Given the description of an element on the screen output the (x, y) to click on. 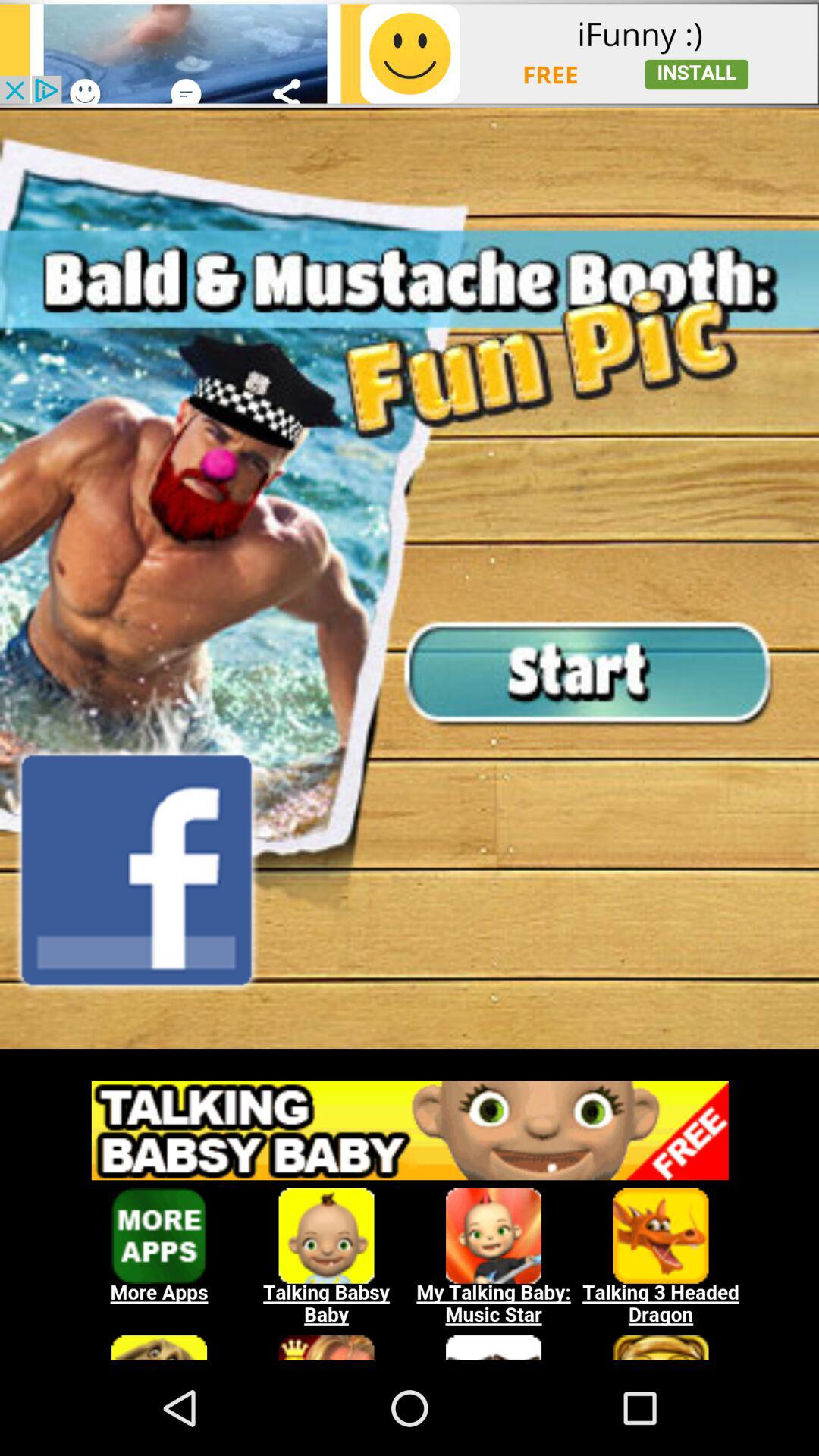
go to facebook page (136, 869)
